Given the description of an element on the screen output the (x, y) to click on. 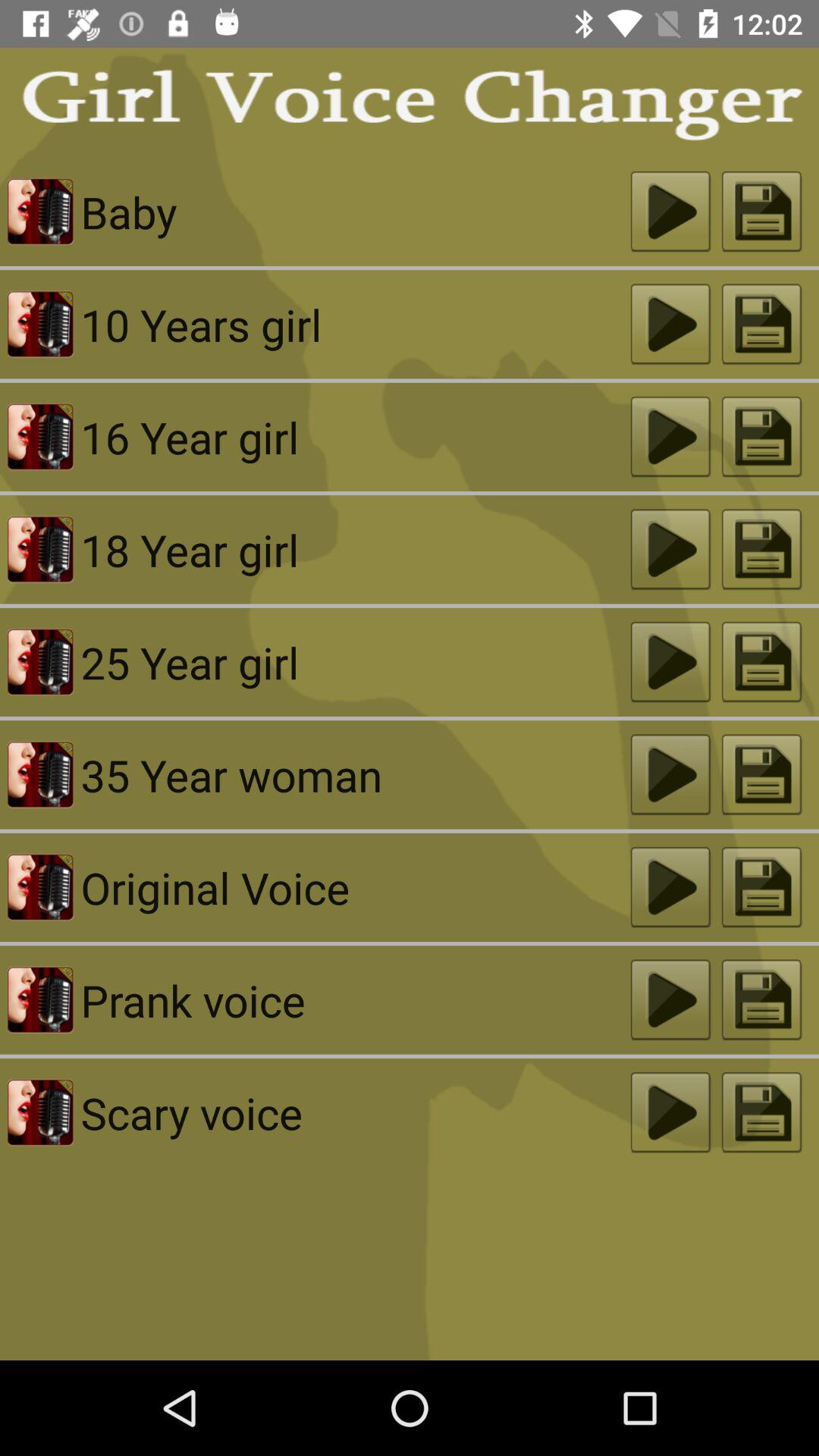
launch the original voice item (355, 887)
